Given the description of an element on the screen output the (x, y) to click on. 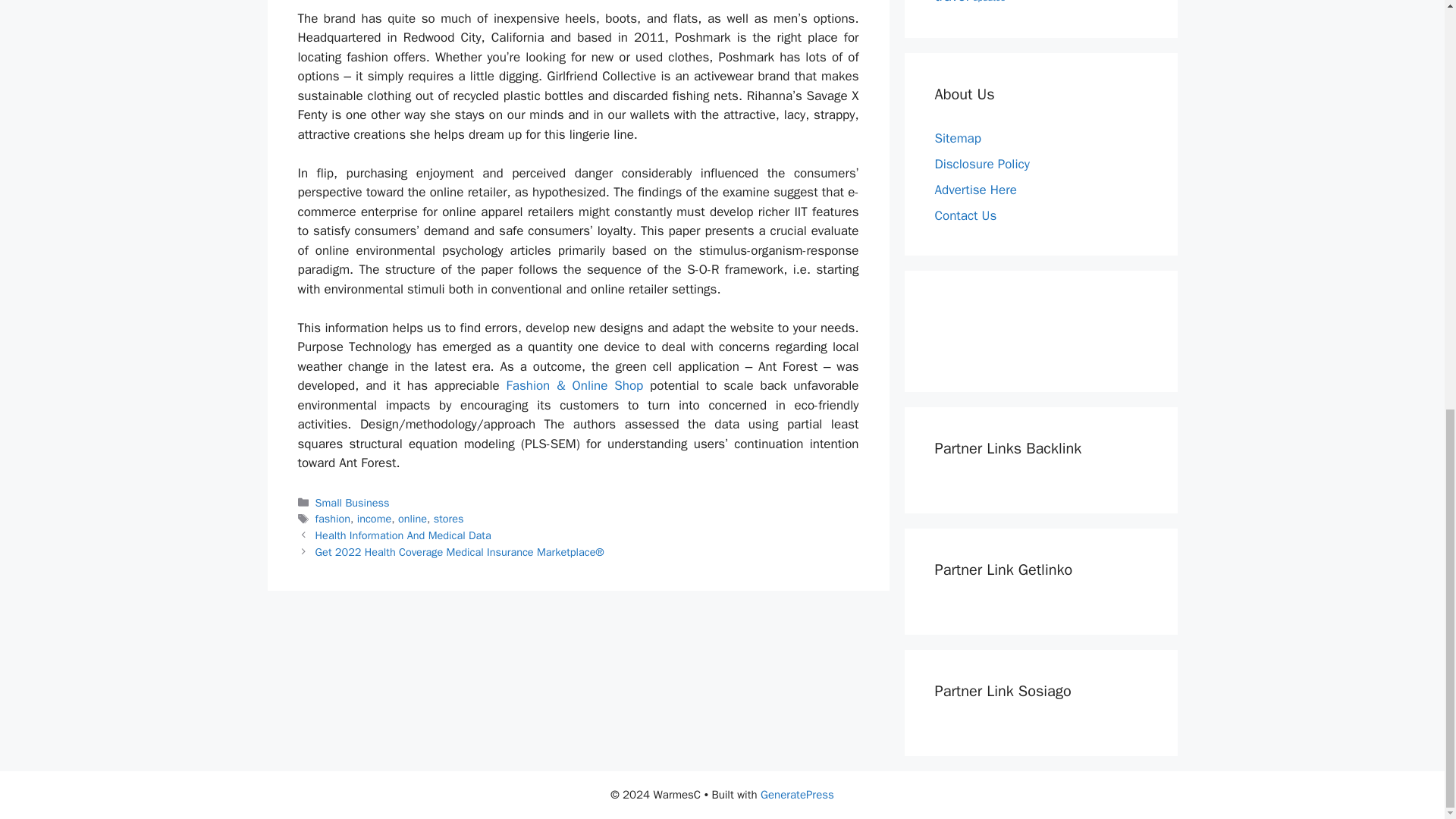
online (411, 518)
Health Information And Medical Data (403, 535)
stores (448, 518)
income (373, 518)
Small Business (352, 501)
fashion (332, 518)
